Given the description of an element on the screen output the (x, y) to click on. 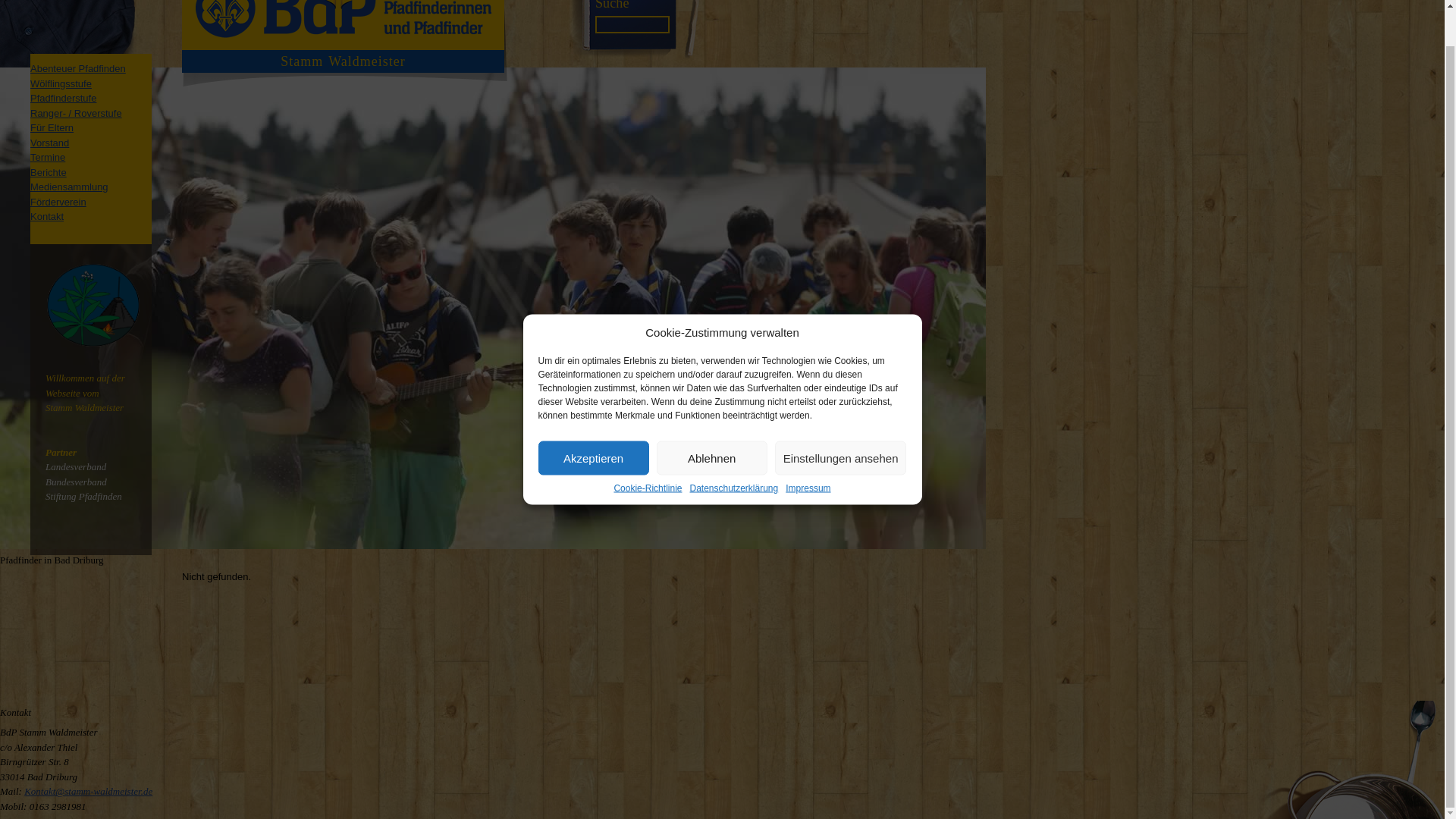
Landesverband (75, 466)
Termine (47, 156)
Abenteuer Pfadfinden (77, 68)
Bundesverband (75, 481)
Vorstand (49, 142)
Pfadfinderstufe (63, 98)
Impressum (807, 450)
Query search (611, 5)
Stiftung Pfadfinden (83, 496)
Ablehnen (711, 421)
Suche nach: (632, 24)
Berichte (48, 172)
Mediensammlung (68, 186)
Suche (611, 5)
Einstellungen ansehen (840, 421)
